Given the description of an element on the screen output the (x, y) to click on. 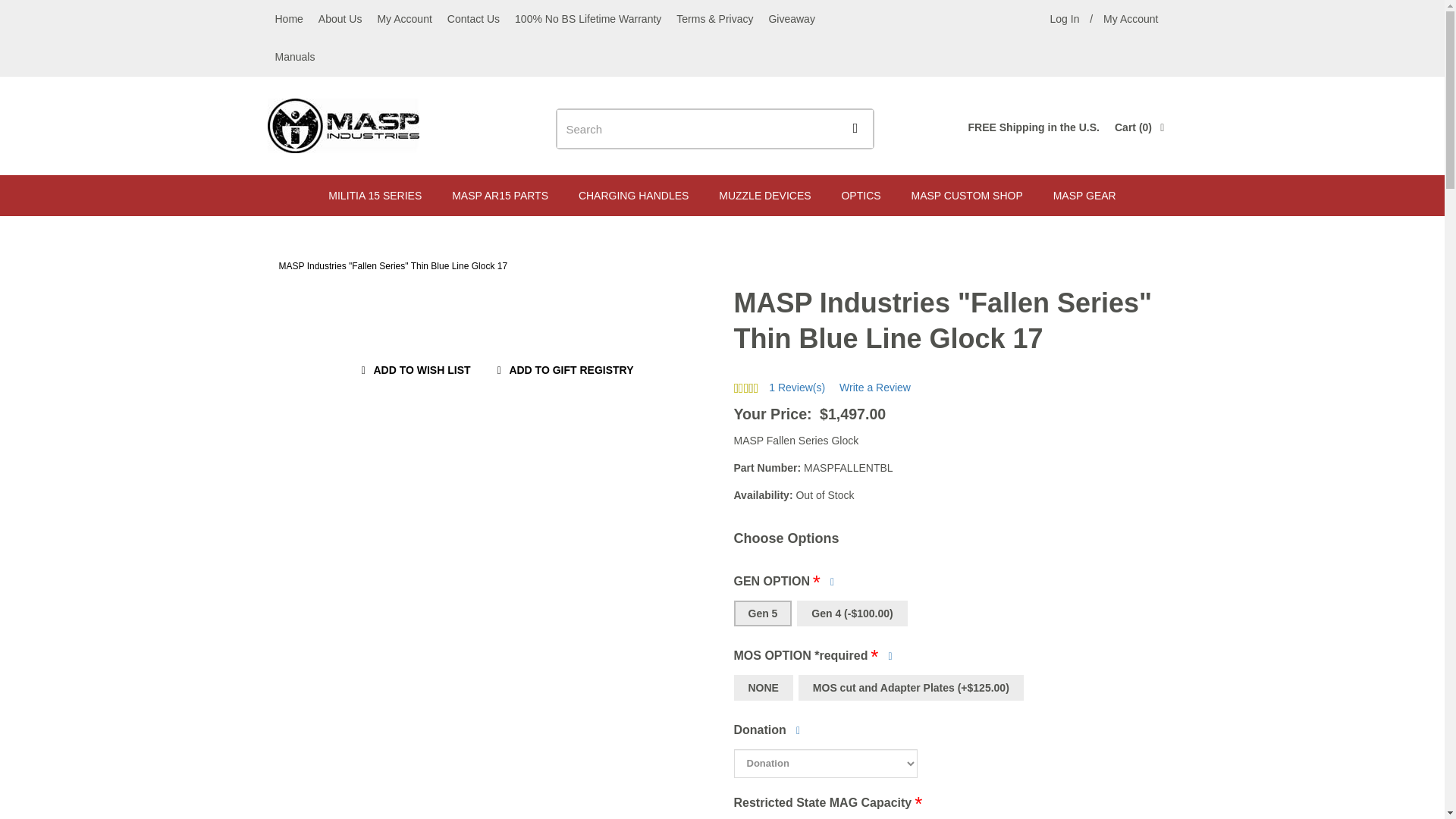
ADD TO GIFT REGISTRY (561, 370)
About Us (340, 18)
MILITIA 15 SERIES (374, 195)
NONE (763, 687)
MASP CUSTOM SHOP (967, 195)
MOS cut and Adapter Plates (910, 687)
CHARGING HANDLES (1131, 18)
Gen 5 (632, 195)
ADD TO WISH LIST (762, 613)
